Given the description of an element on the screen output the (x, y) to click on. 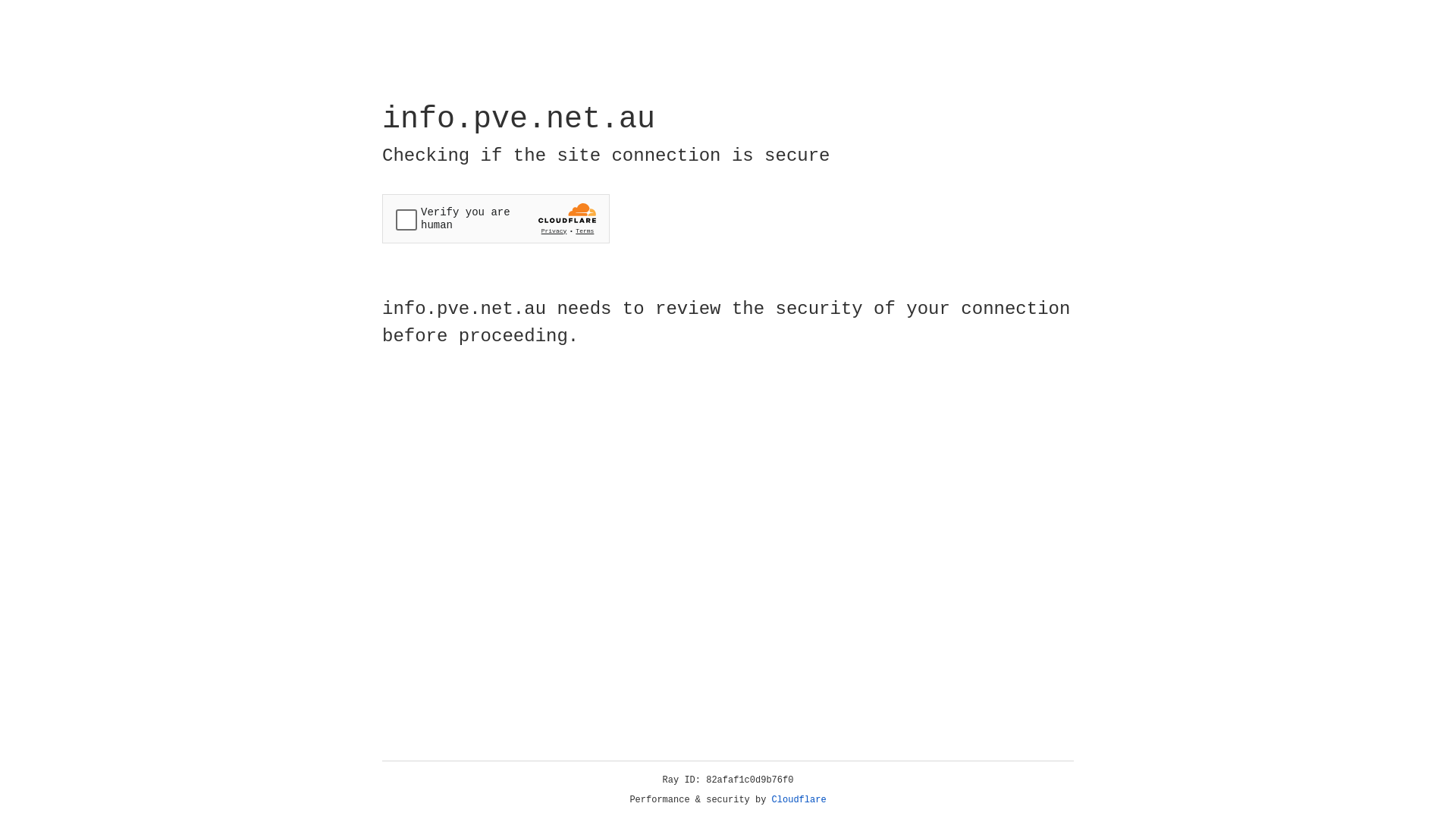
Cloudflare Element type: text (798, 799)
Widget containing a Cloudflare security challenge Element type: hover (495, 218)
